Given the description of an element on the screen output the (x, y) to click on. 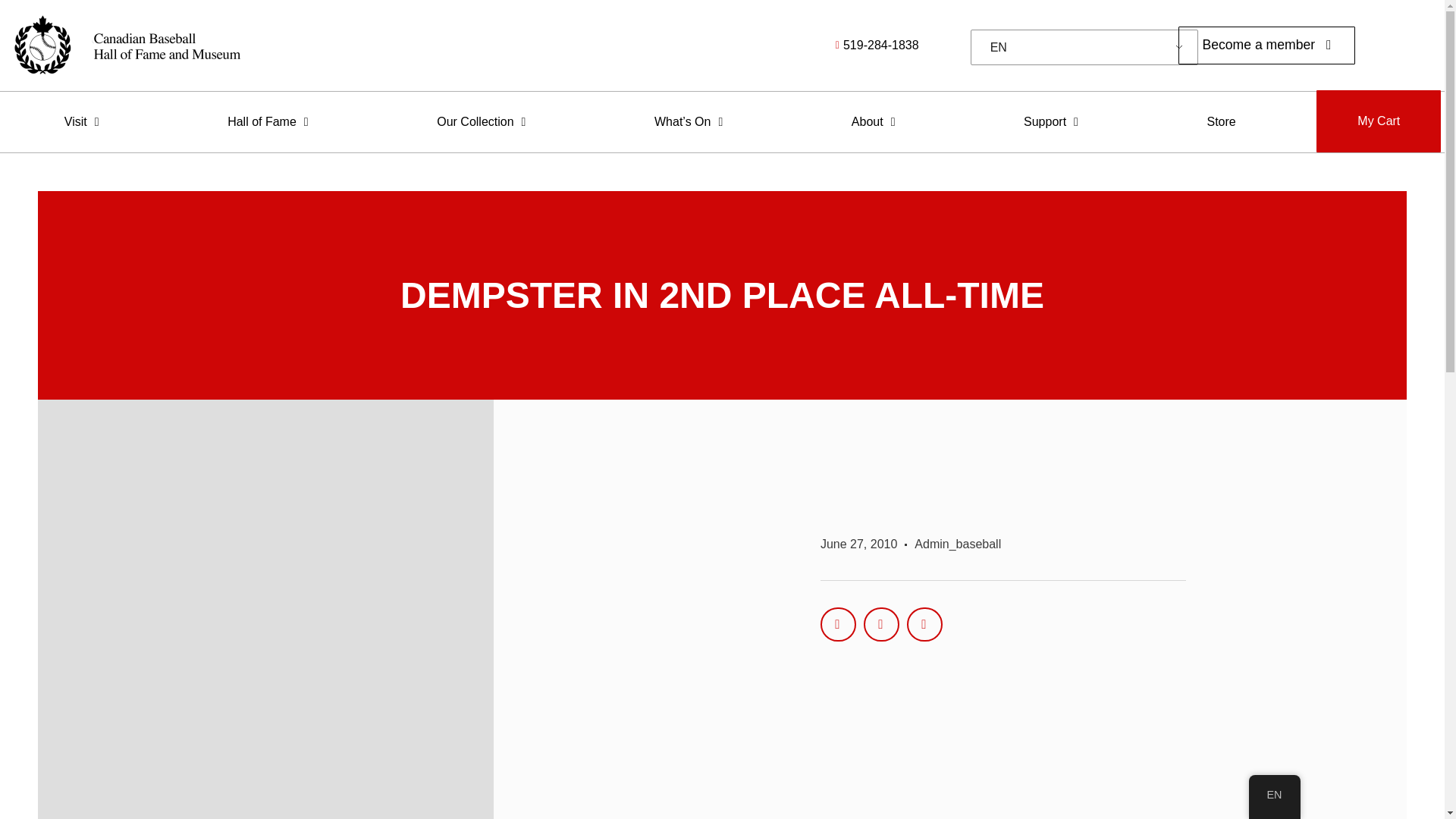
519-284-1838 (783, 45)
Visit (81, 121)
Become a member (1265, 45)
cbhfm-logo-in-black-and-white (126, 45)
EN (1081, 47)
Our Collection (480, 121)
English (1081, 47)
Hall of Fame (267, 121)
